Given the description of an element on the screen output the (x, y) to click on. 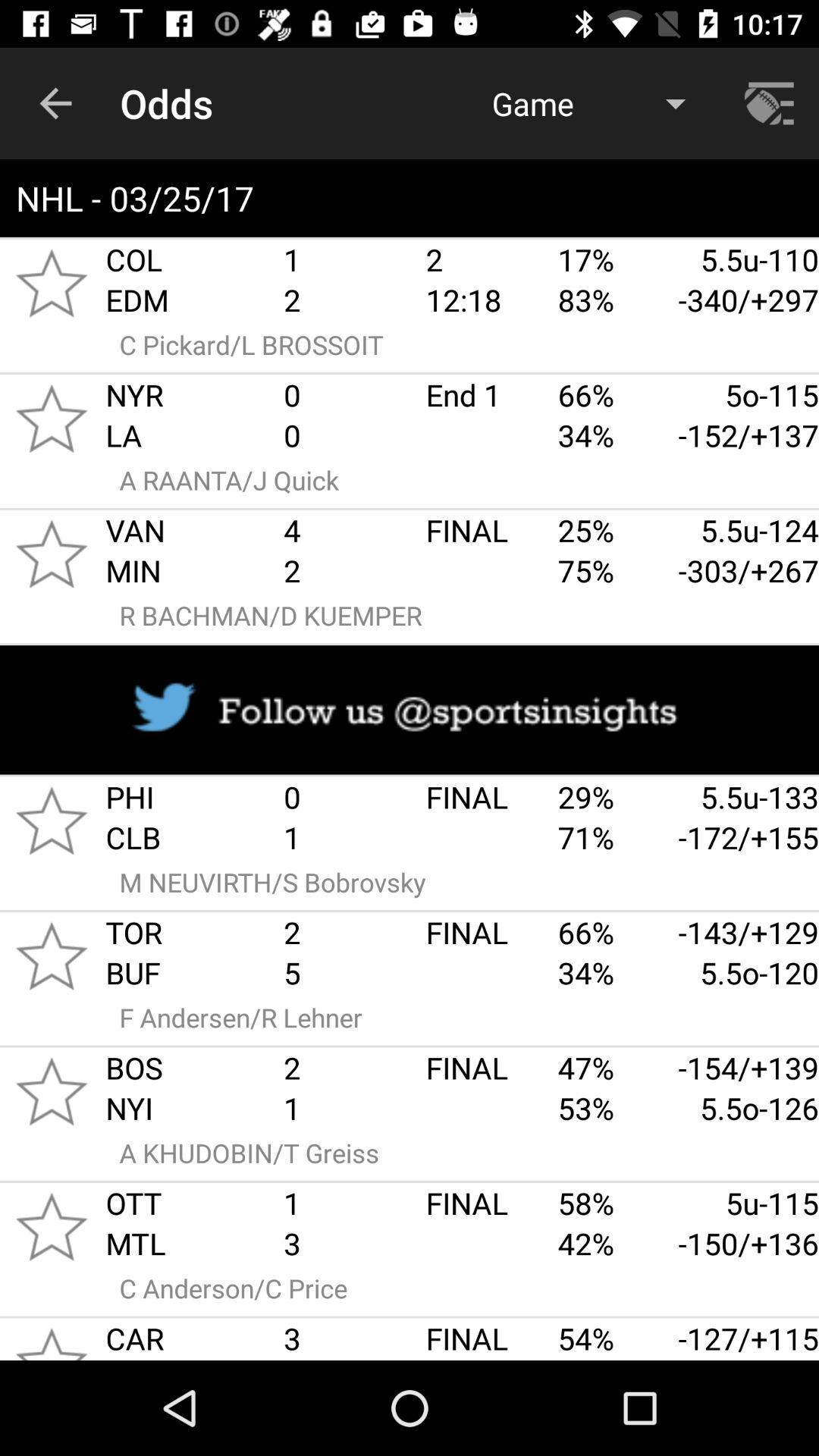
add to favorite (51, 1091)
